Given the description of an element on the screen output the (x, y) to click on. 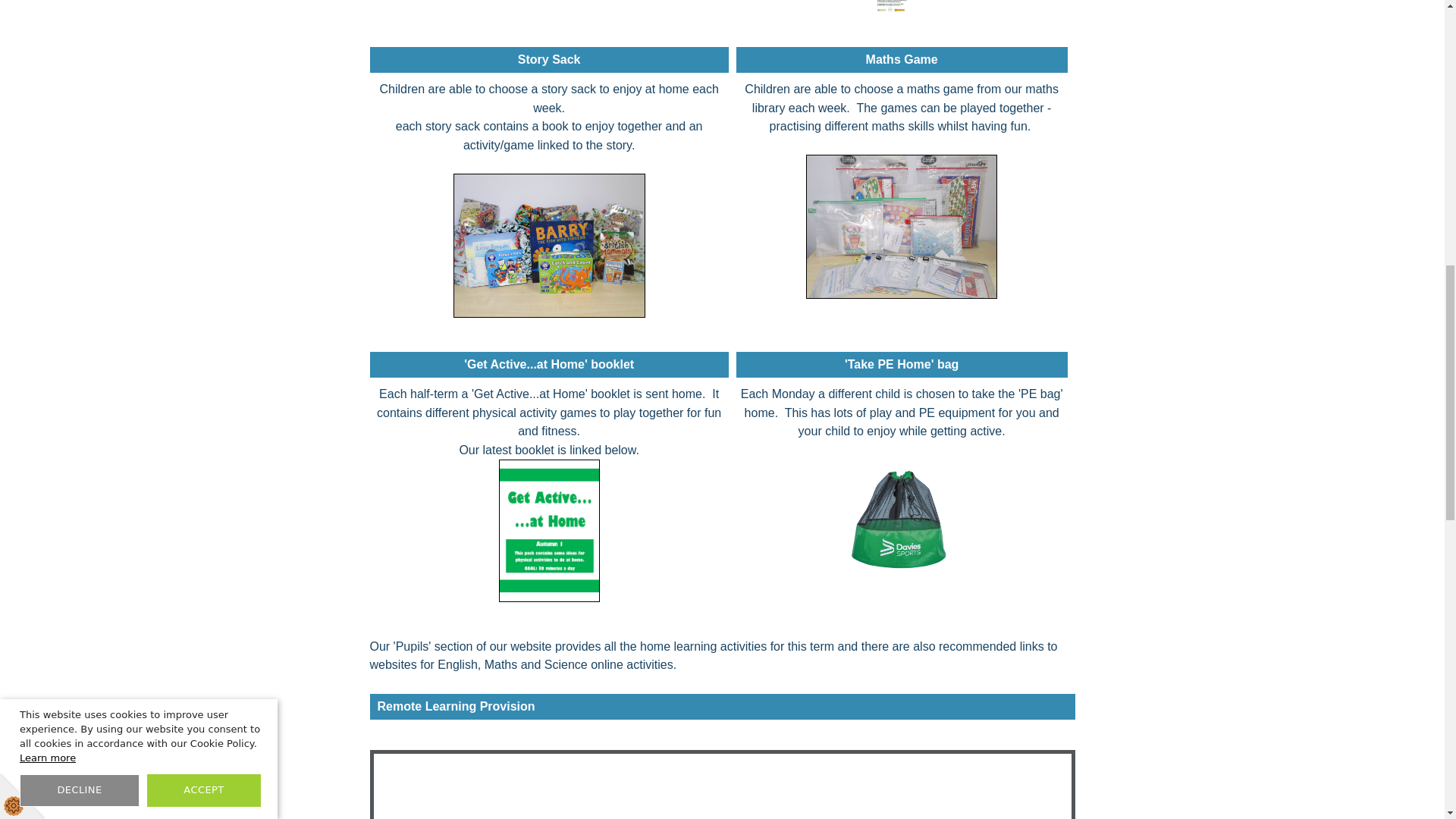
Click to read the Star Word parent letter (901, 6)
Click to open our current 'Get Active...at Home' booklet (549, 529)
